Given the description of an element on the screen output the (x, y) to click on. 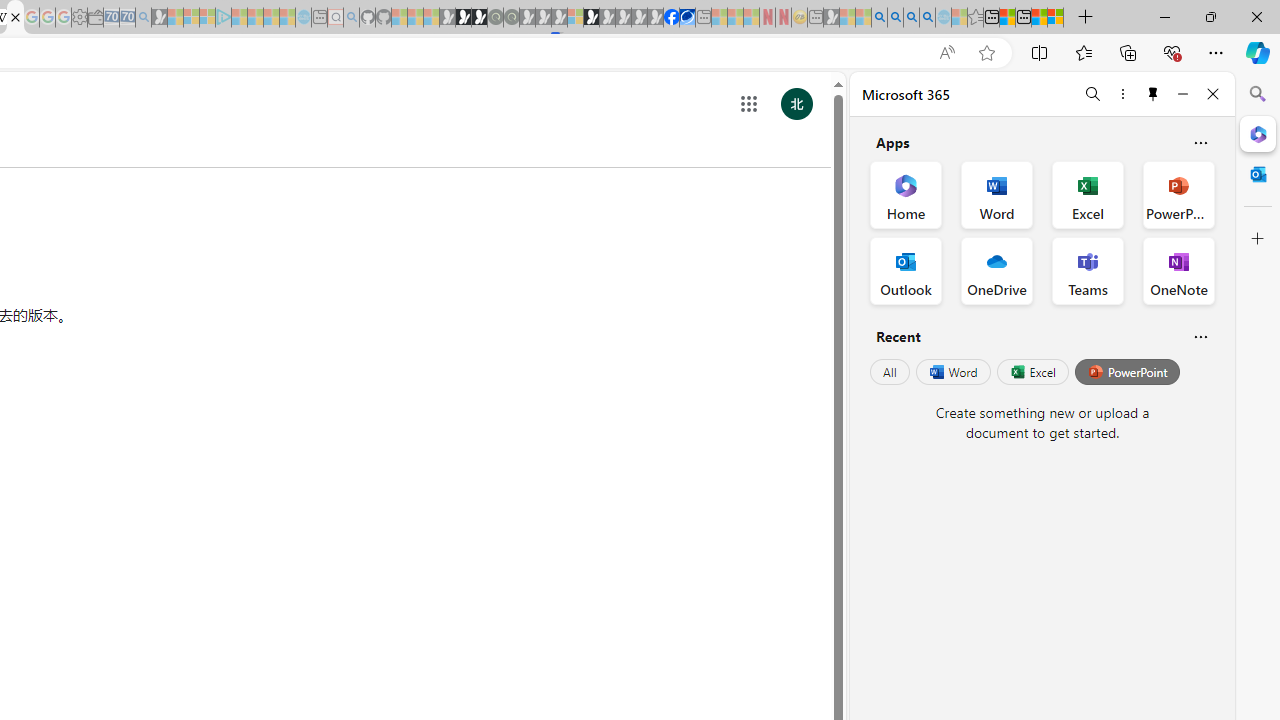
Future Focus Report 2024 - Sleeping (511, 17)
2009 Bing officially replaced Live Search on June 3 - Search (895, 17)
Word Office App (996, 194)
Play Zoo Boom in your browser | Games from Microsoft Start (463, 17)
Excel Office App (1087, 194)
